Given the description of an element on the screen output the (x, y) to click on. 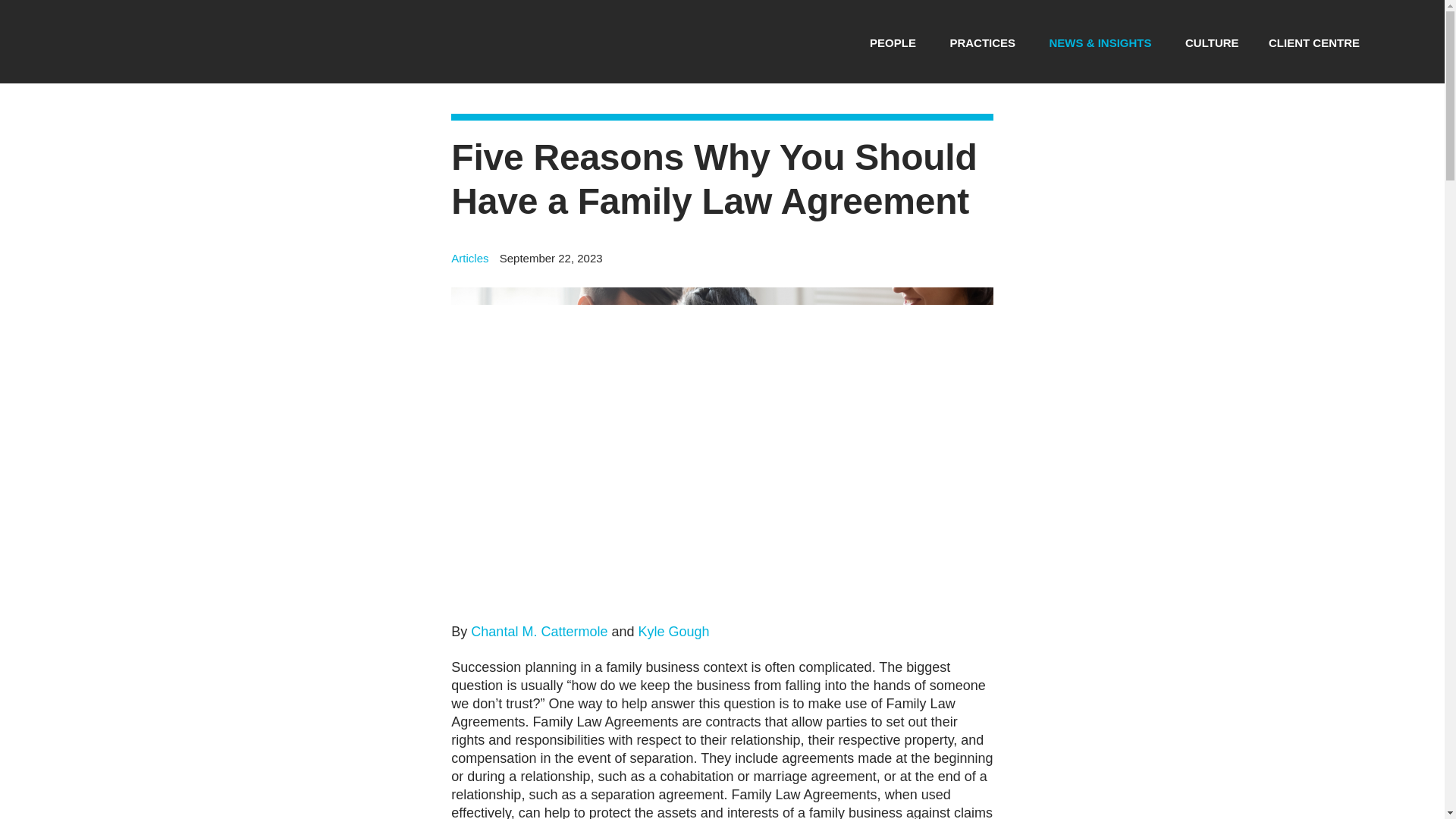
CLIENT CENTRE (1313, 42)
CULTURE (1212, 42)
Kyle Gough (673, 631)
Articles (469, 257)
Chantal M. Cattermole (538, 631)
Twitter share (939, 264)
PRACTICES (981, 42)
Facebook share (961, 264)
PEOPLE (892, 42)
LinkedIn Share (983, 264)
